Given the description of an element on the screen output the (x, y) to click on. 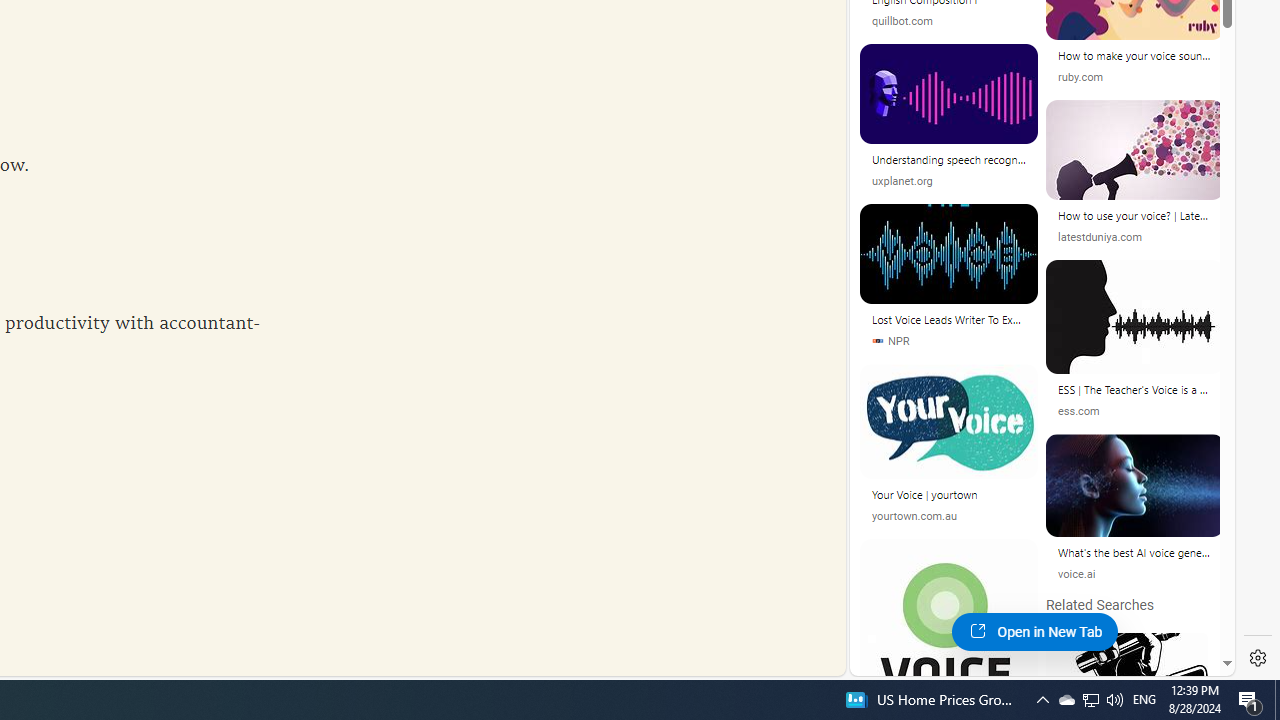
Settings (1258, 658)
Image result for Voice (1134, 485)
How to make your voice sound better | Ruby Blog (1135, 58)
voice.ai (1076, 574)
ruby.com (1080, 77)
uxplanet.org (948, 180)
quillbot.com (948, 21)
ess.com (1078, 411)
